Given the description of an element on the screen output the (x, y) to click on. 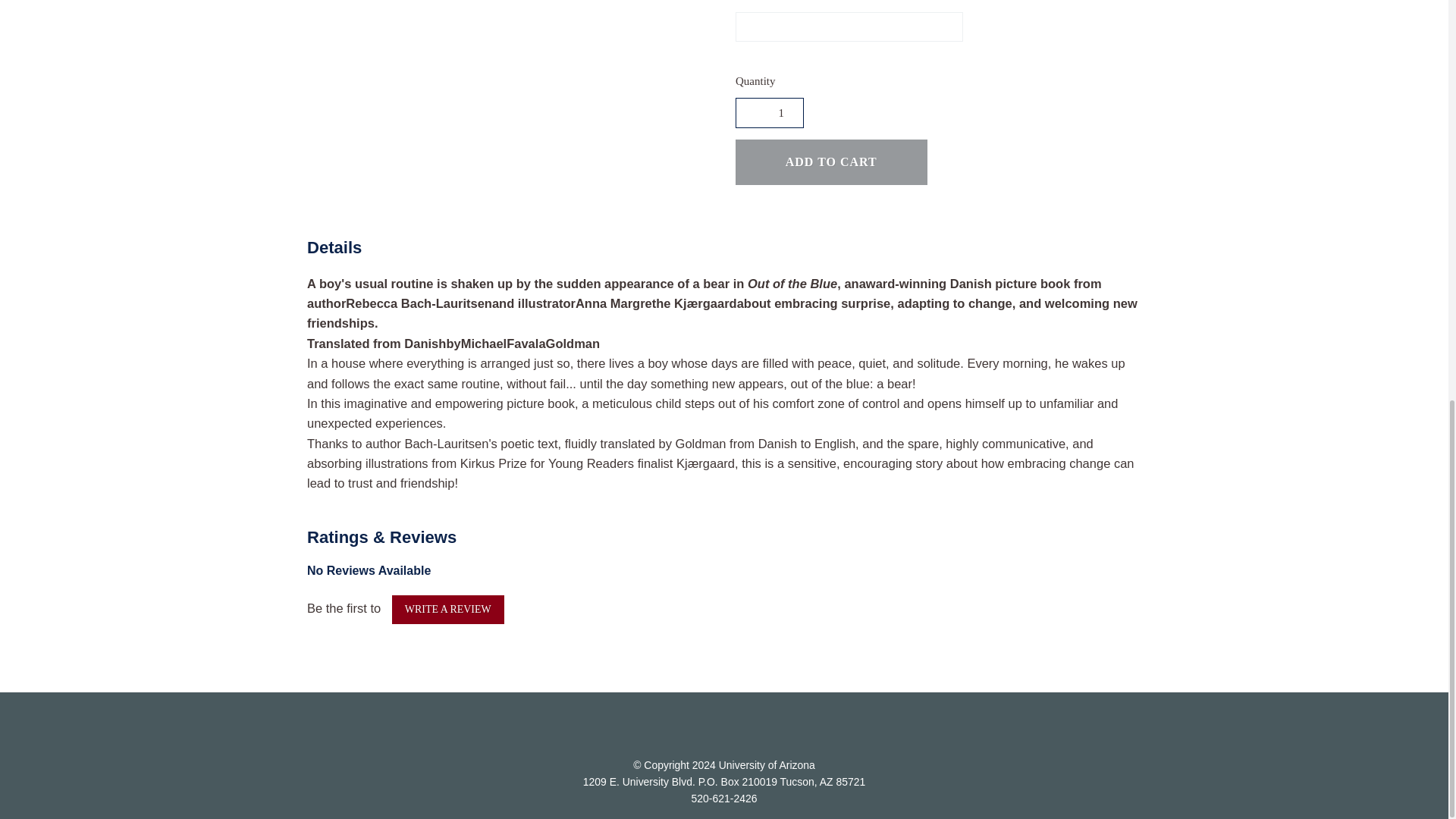
1 (769, 112)
